Given the description of an element on the screen output the (x, y) to click on. 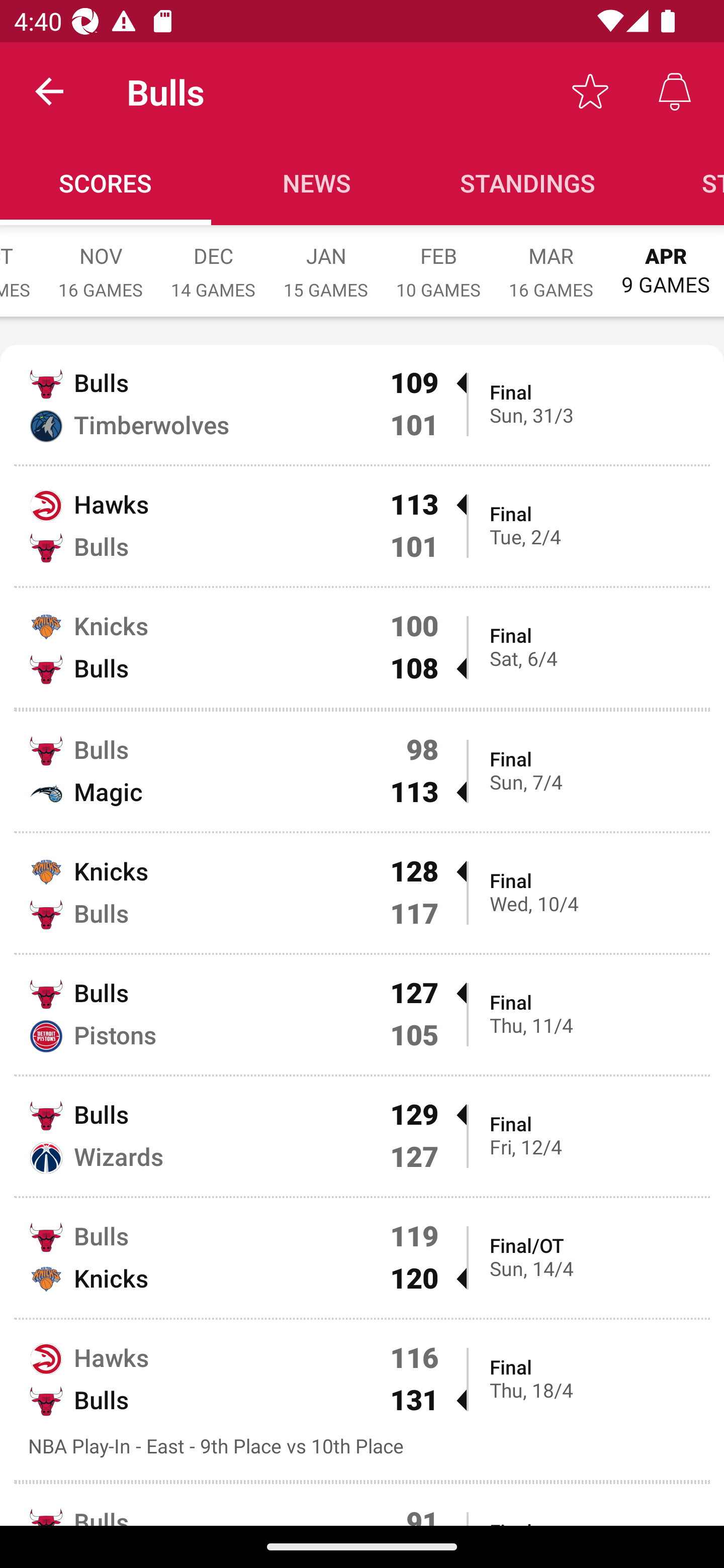
back.button (49, 90)
Favorite toggle (590, 90)
Alerts (674, 90)
News NEWS (316, 183)
Standings STANDINGS (527, 183)
NOV 16 GAMES (100, 262)
DEC 14 GAMES (213, 262)
JAN 15 GAMES (325, 262)
FEB 10 GAMES (438, 262)
MAR 16 GAMES (550, 262)
APR 9 GAMES (665, 261)
Bulls 109  Timberwolves 101 Final Sun, 31/3 (362, 404)
Hawks 113  Bulls 101 Final Tue, 2/4 (362, 525)
Knicks 100 Bulls 108  Final Sat, 6/4 (362, 647)
Bulls 98 Magic 113  Final Sun, 7/4 (362, 771)
Knicks 128  Bulls 117 Final Wed, 10/4 (362, 892)
Bulls 127  Pistons 105 Final Thu, 11/4 (362, 1014)
Bulls 129  Wizards 127 Final Fri, 12/4 (362, 1136)
Bulls 119 Knicks 120  Final/OT Sun, 14/4 (362, 1257)
